Given the description of an element on the screen output the (x, y) to click on. 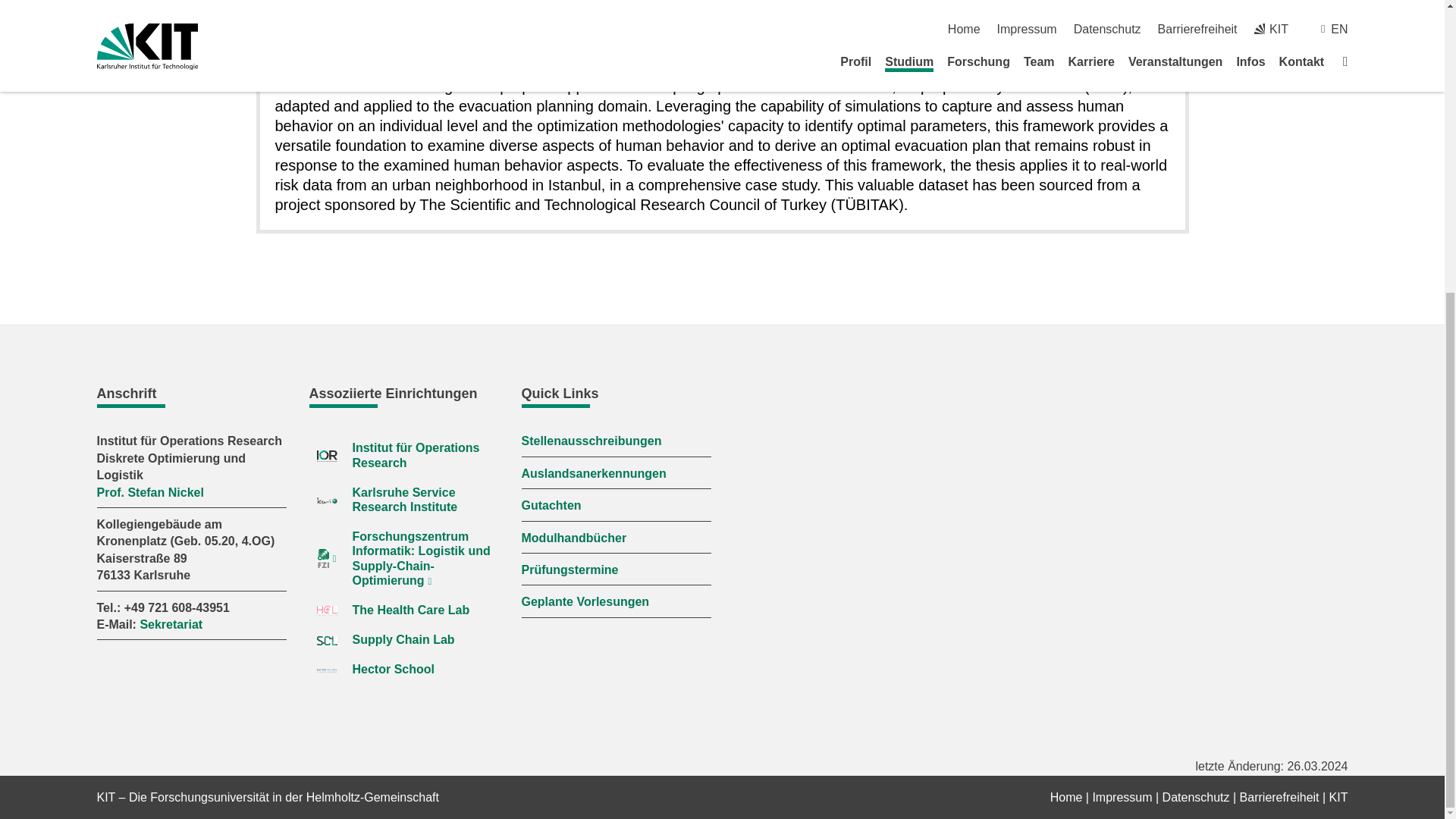
Startseite (1066, 797)
